Given the description of an element on the screen output the (x, y) to click on. 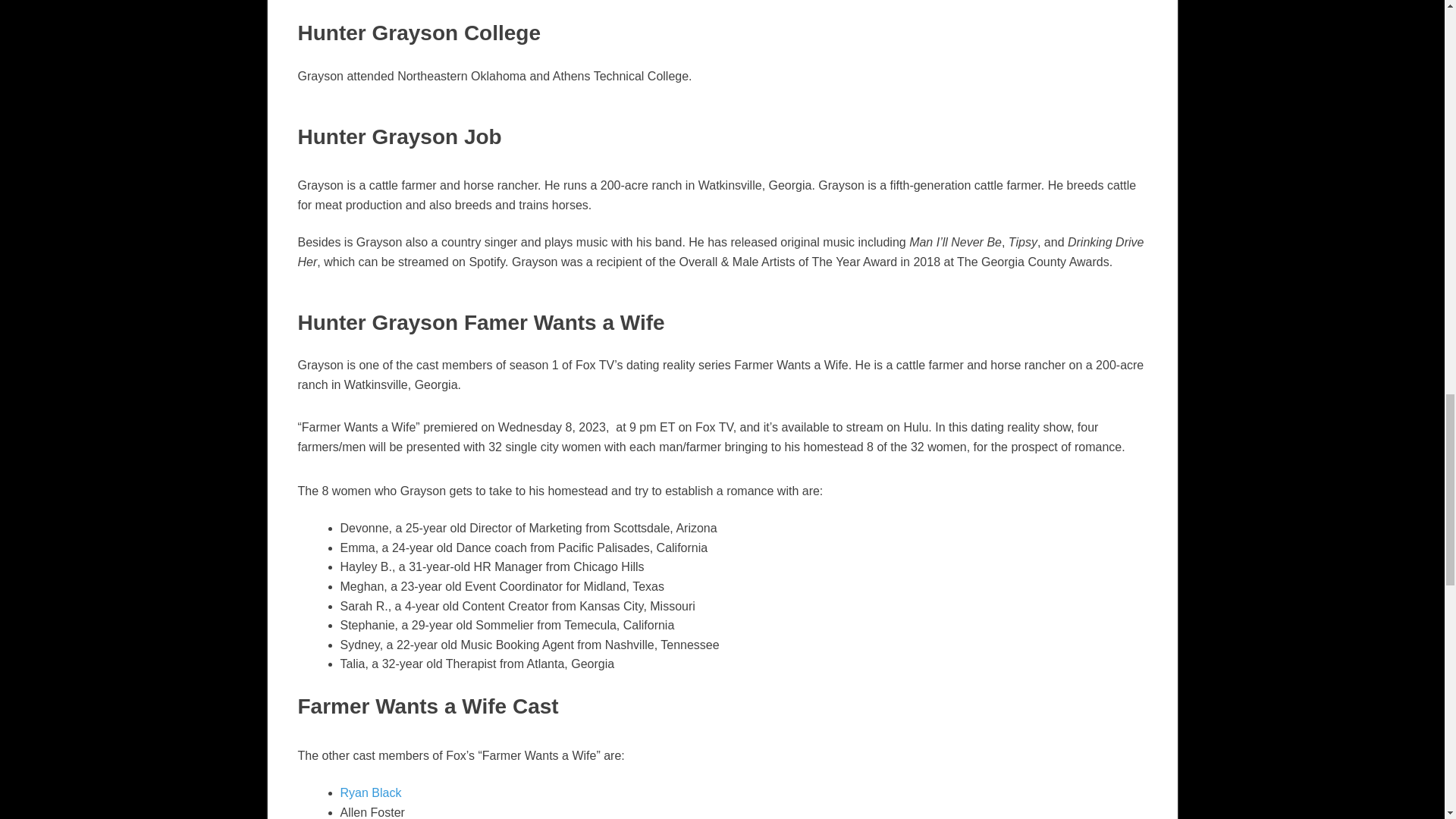
Ryan Black (370, 792)
